Given the description of an element on the screen output the (x, y) to click on. 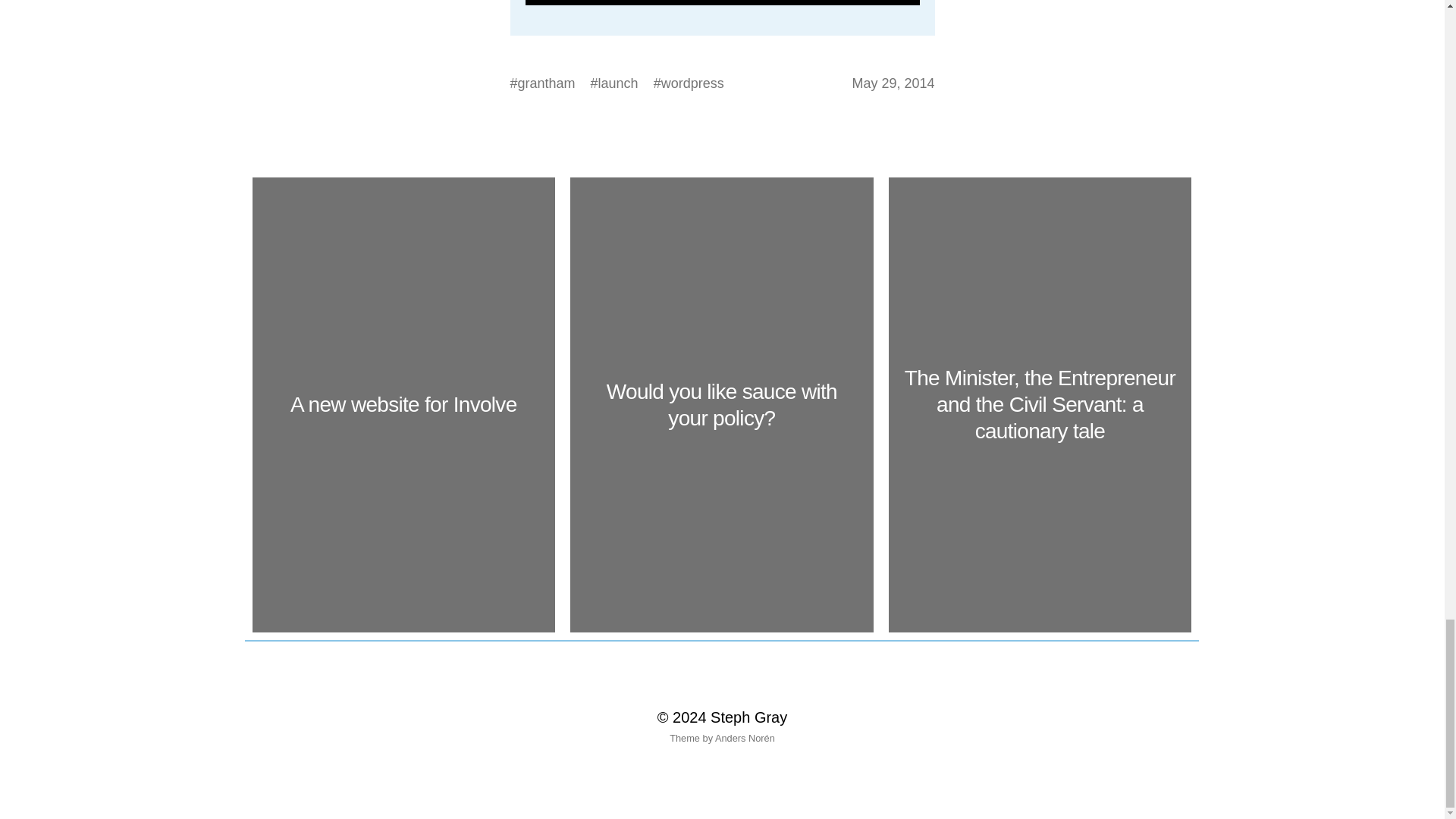
May 29, 2014 (892, 83)
grantham (546, 83)
launch (618, 83)
wordpress (692, 83)
Get email notifications (721, 2)
Steph Gray (748, 717)
Get email notifications (721, 2)
